Given the description of an element on the screen output the (x, y) to click on. 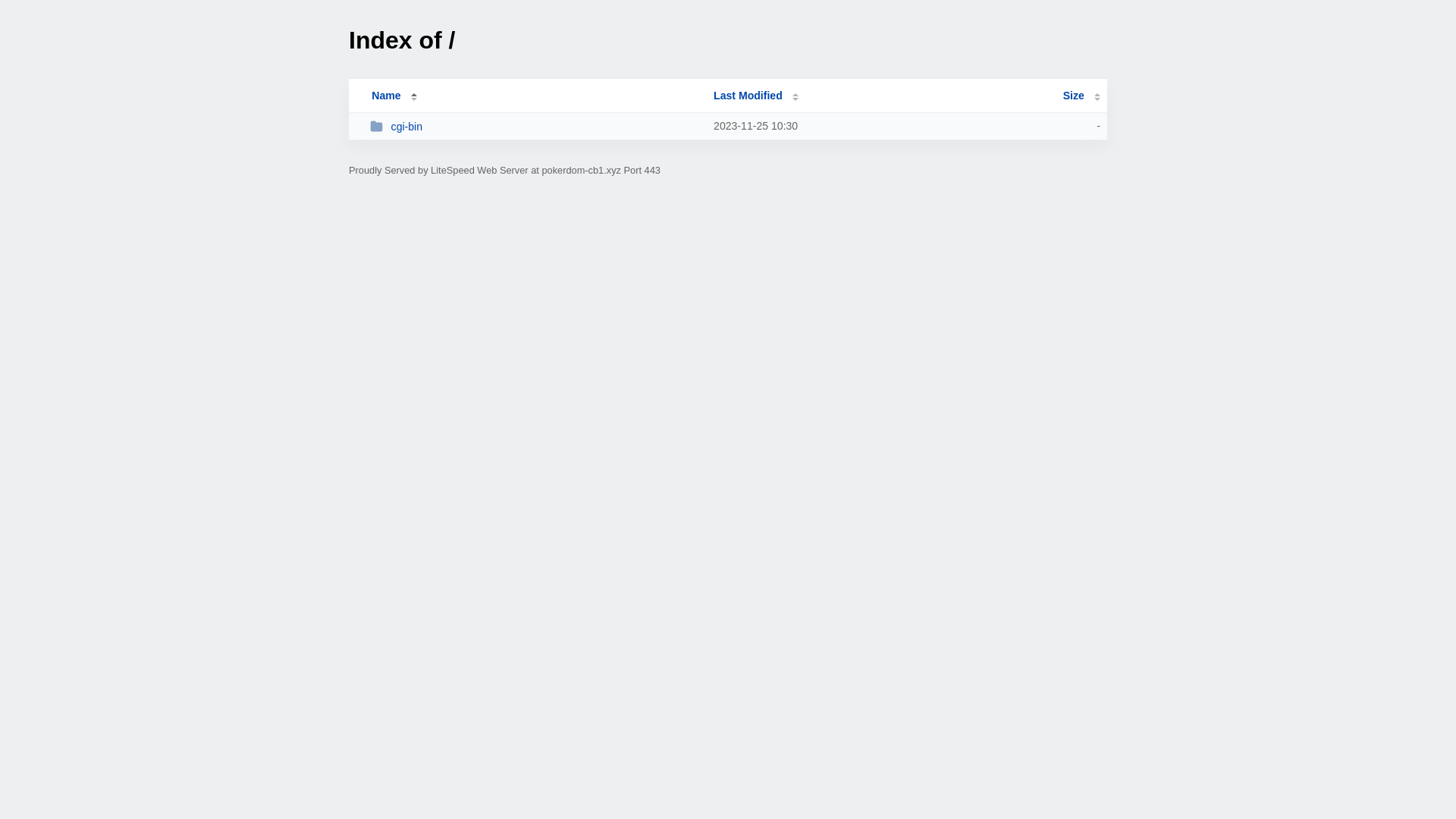
Size Element type: text (1081, 95)
Last Modified Element type: text (755, 95)
cgi-bin Element type: text (534, 125)
Name Element type: text (385, 95)
